Given the description of an element on the screen output the (x, y) to click on. 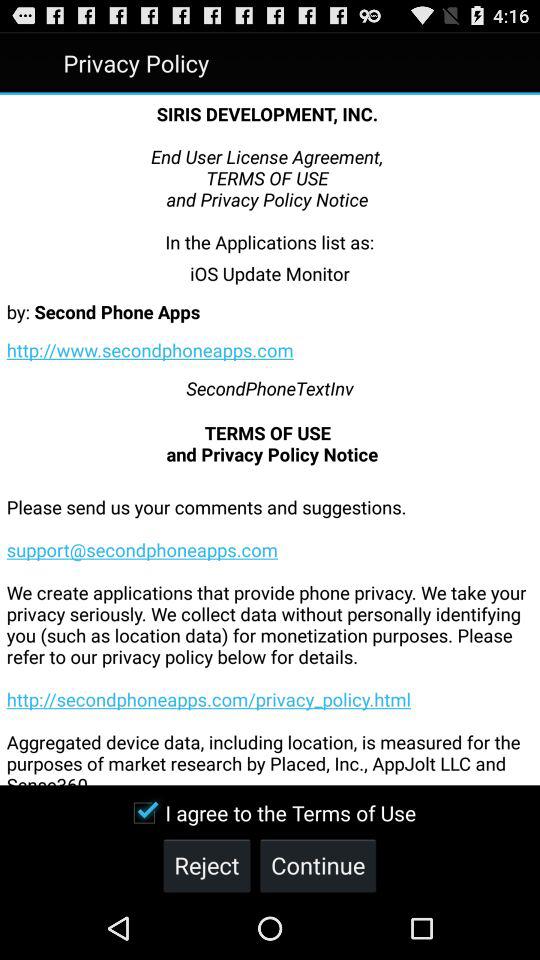
press icon below the by second phone item (150, 349)
